Given the description of an element on the screen output the (x, y) to click on. 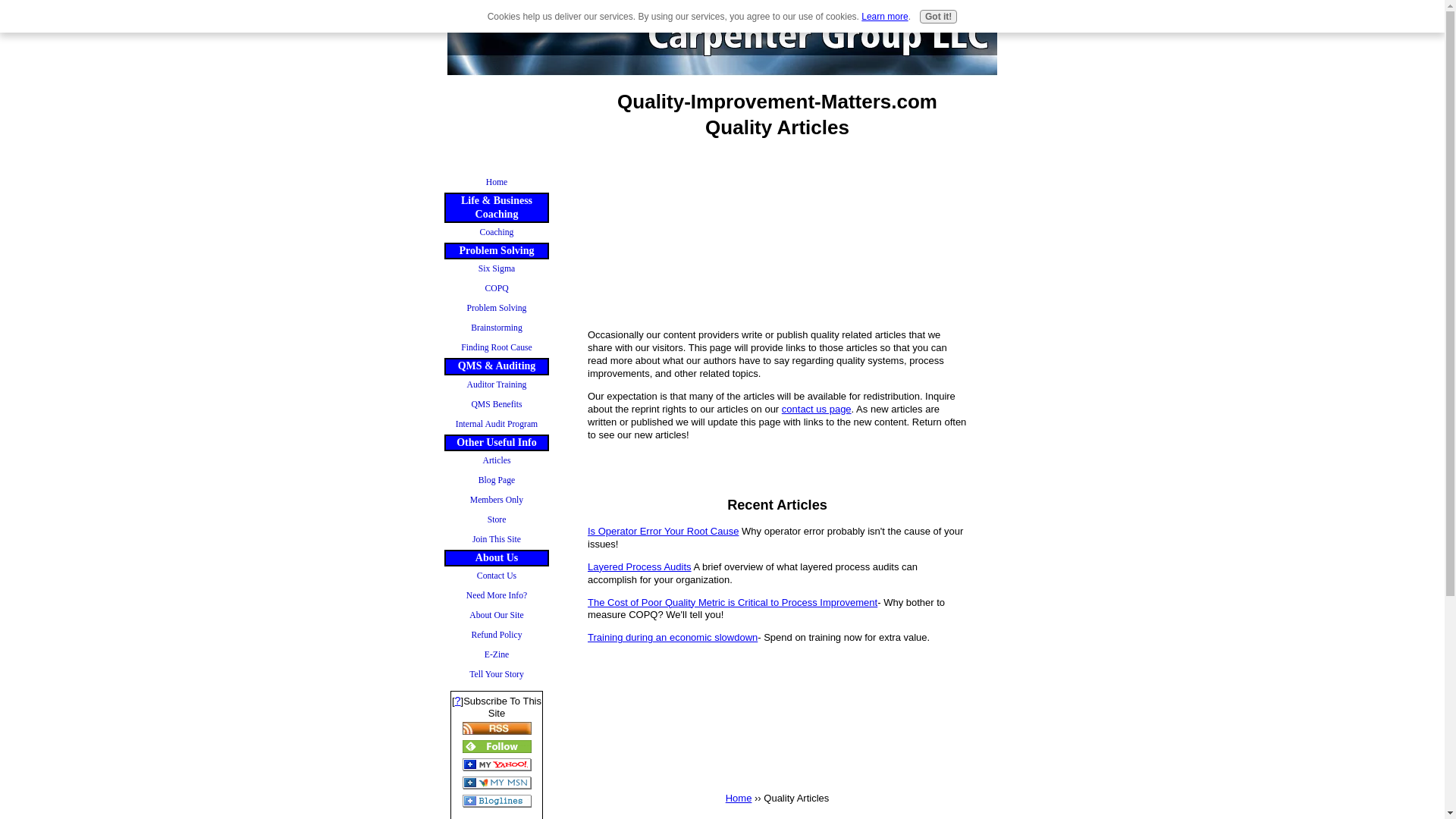
Refund Policy (496, 635)
Home (496, 182)
? (457, 699)
Auditor Training (496, 384)
Store (496, 519)
contact us page (816, 408)
Problem Solving (496, 308)
Got it! (938, 16)
Home (738, 797)
Tell Your Story (496, 674)
Brainstorming (496, 328)
Members Only (496, 500)
E-Zine (496, 655)
Internal Audit Program (496, 424)
Learn more (884, 16)
